Given the description of an element on the screen output the (x, y) to click on. 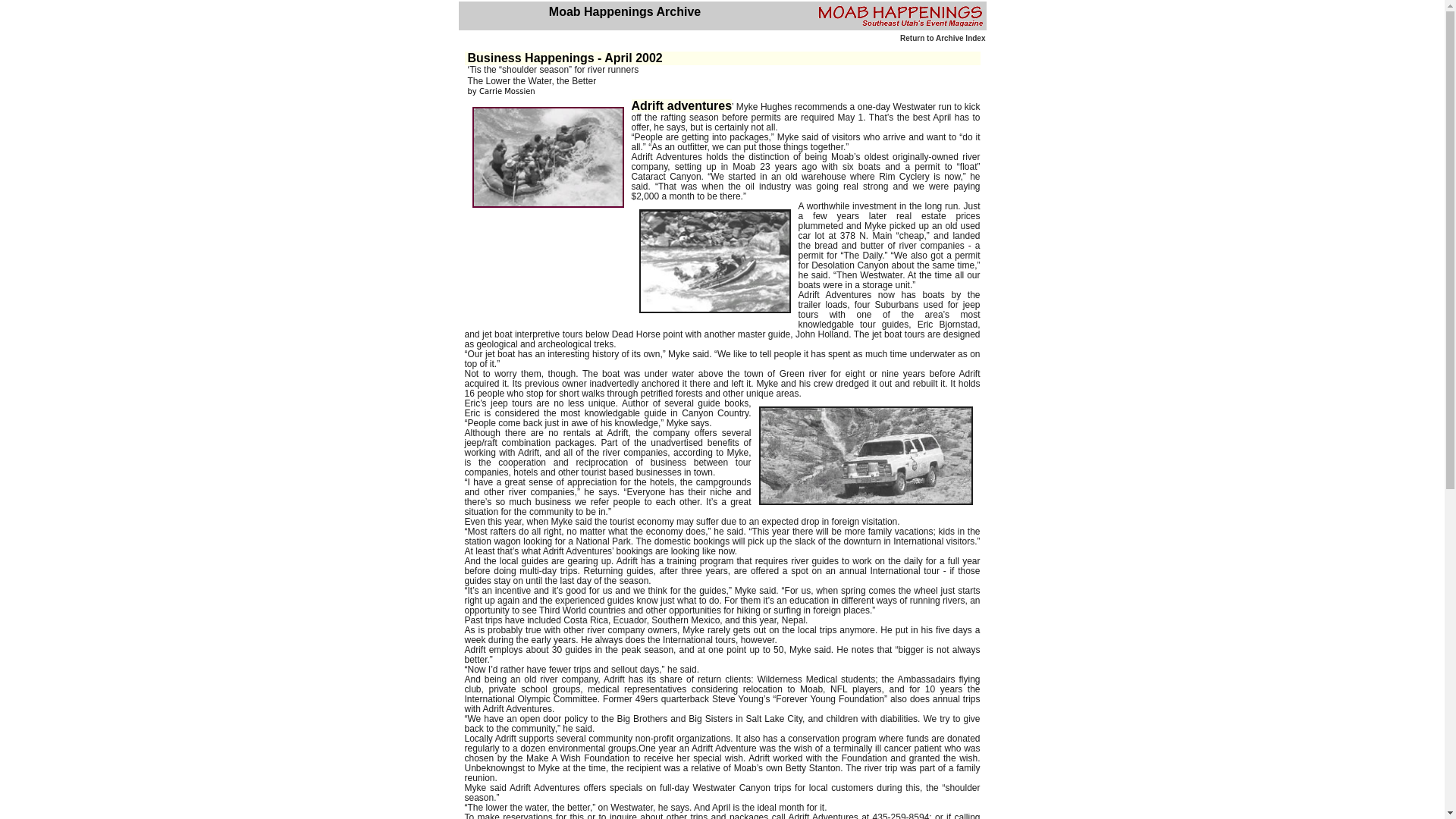
Return to Archive Index (942, 38)
